Given the description of an element on the screen output the (x, y) to click on. 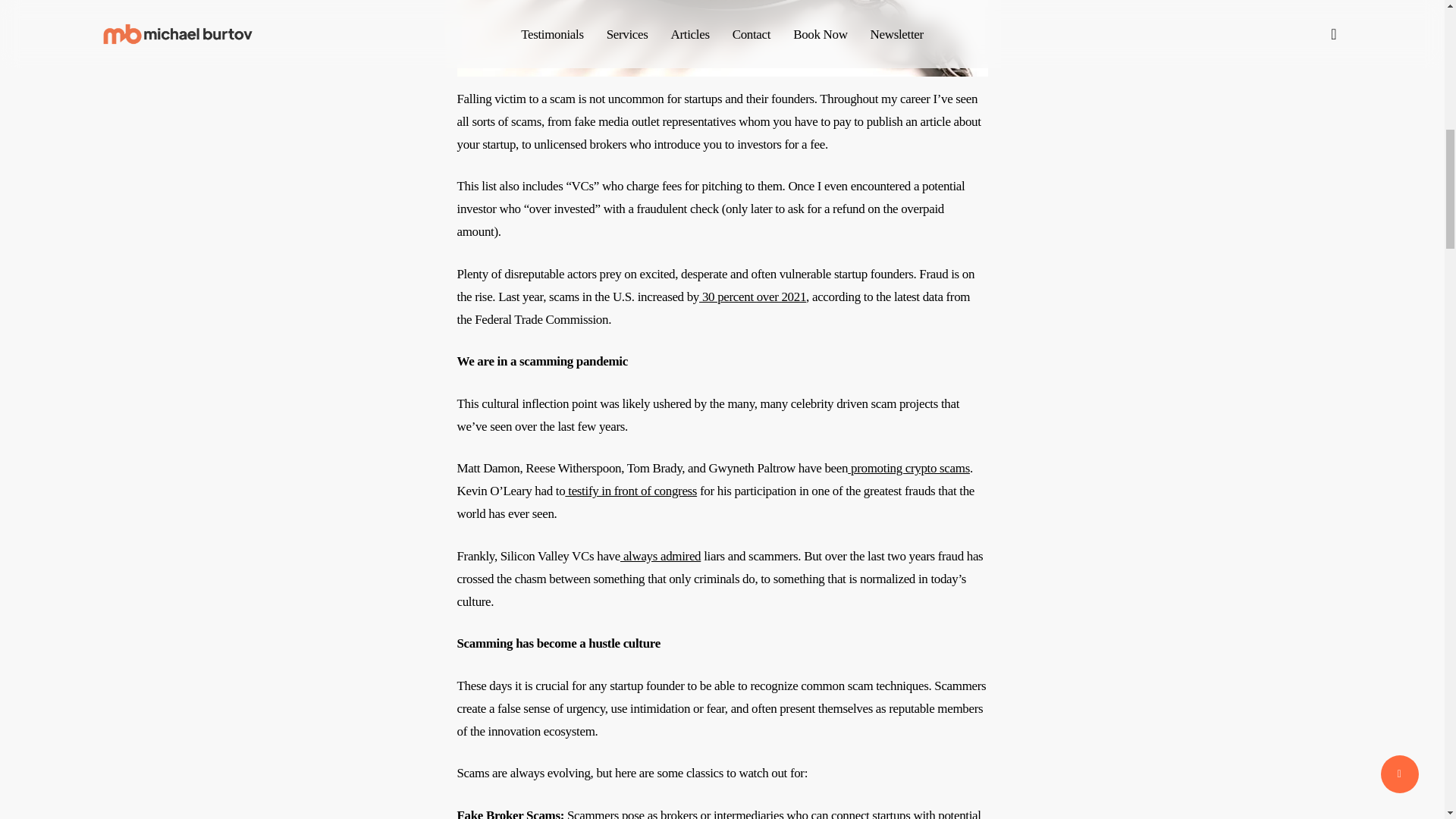
testify in front of congress (630, 490)
promoting crypto scams (908, 468)
always admired (660, 555)
30 percent over 2021 (752, 296)
